Given the description of an element on the screen output the (x, y) to click on. 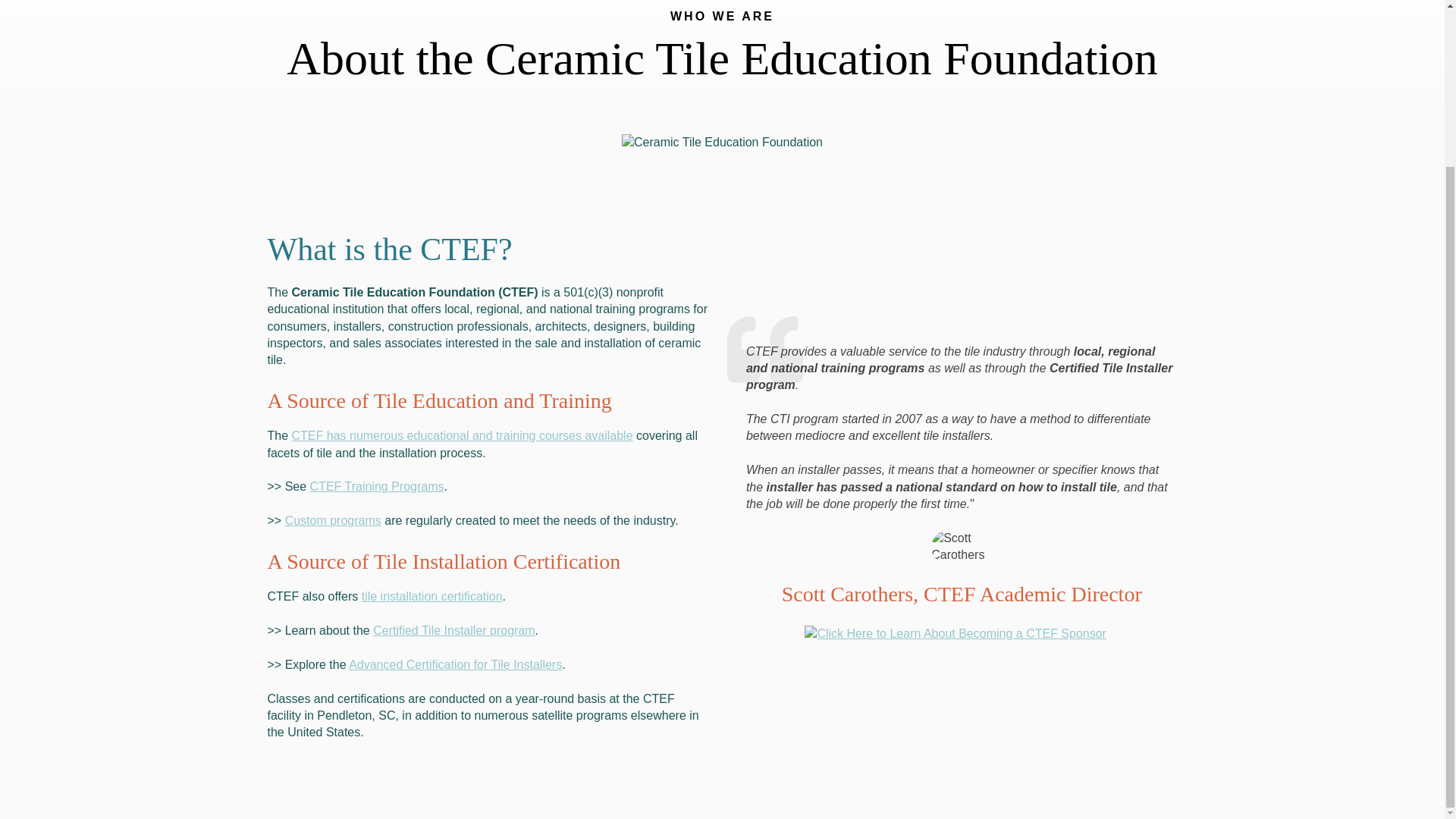
Ceramic Tile Education Foundation (721, 142)
